Given the description of an element on the screen output the (x, y) to click on. 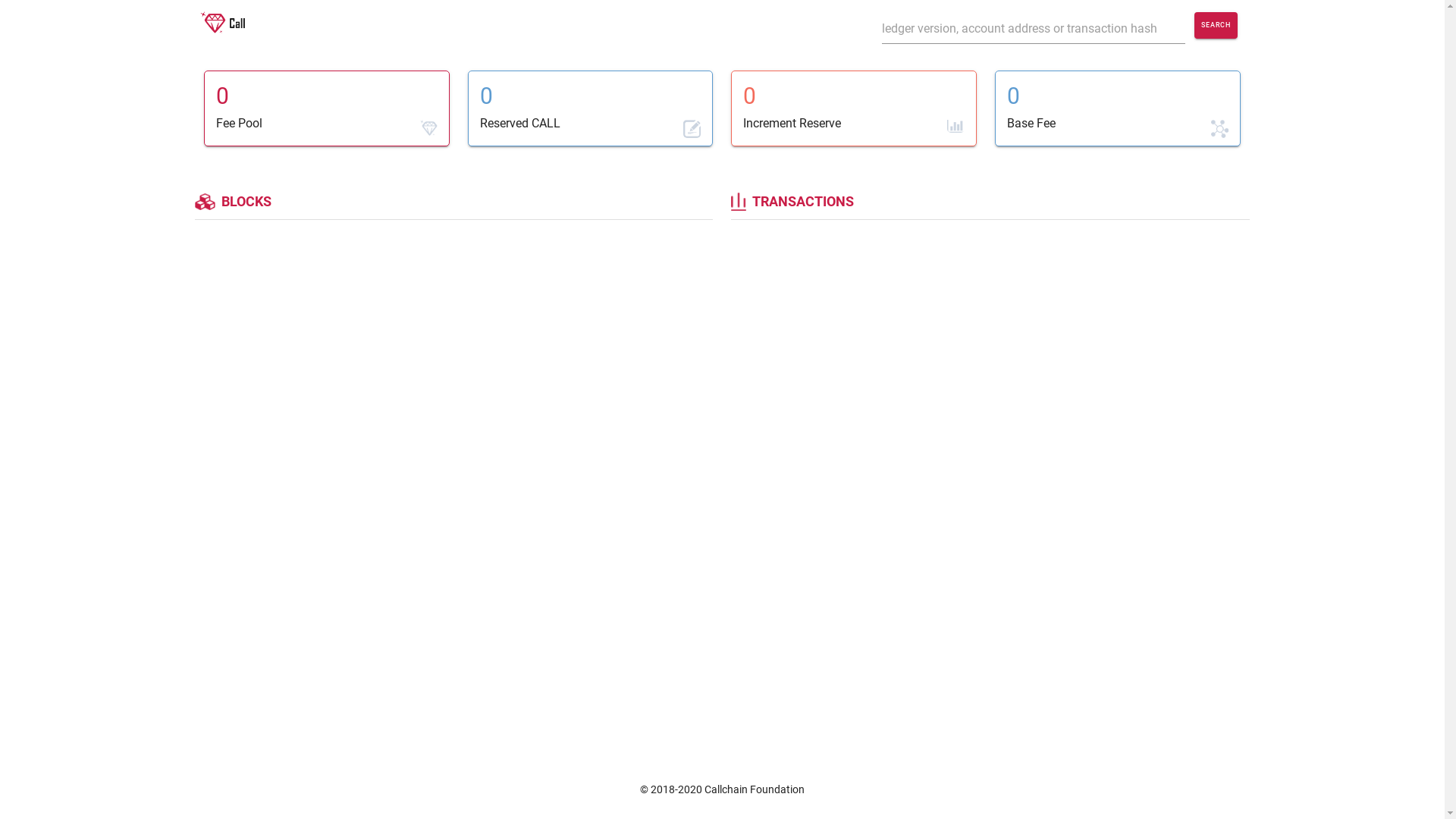
SEARCH Element type: text (1215, 25)
